Given the description of an element on the screen output the (x, y) to click on. 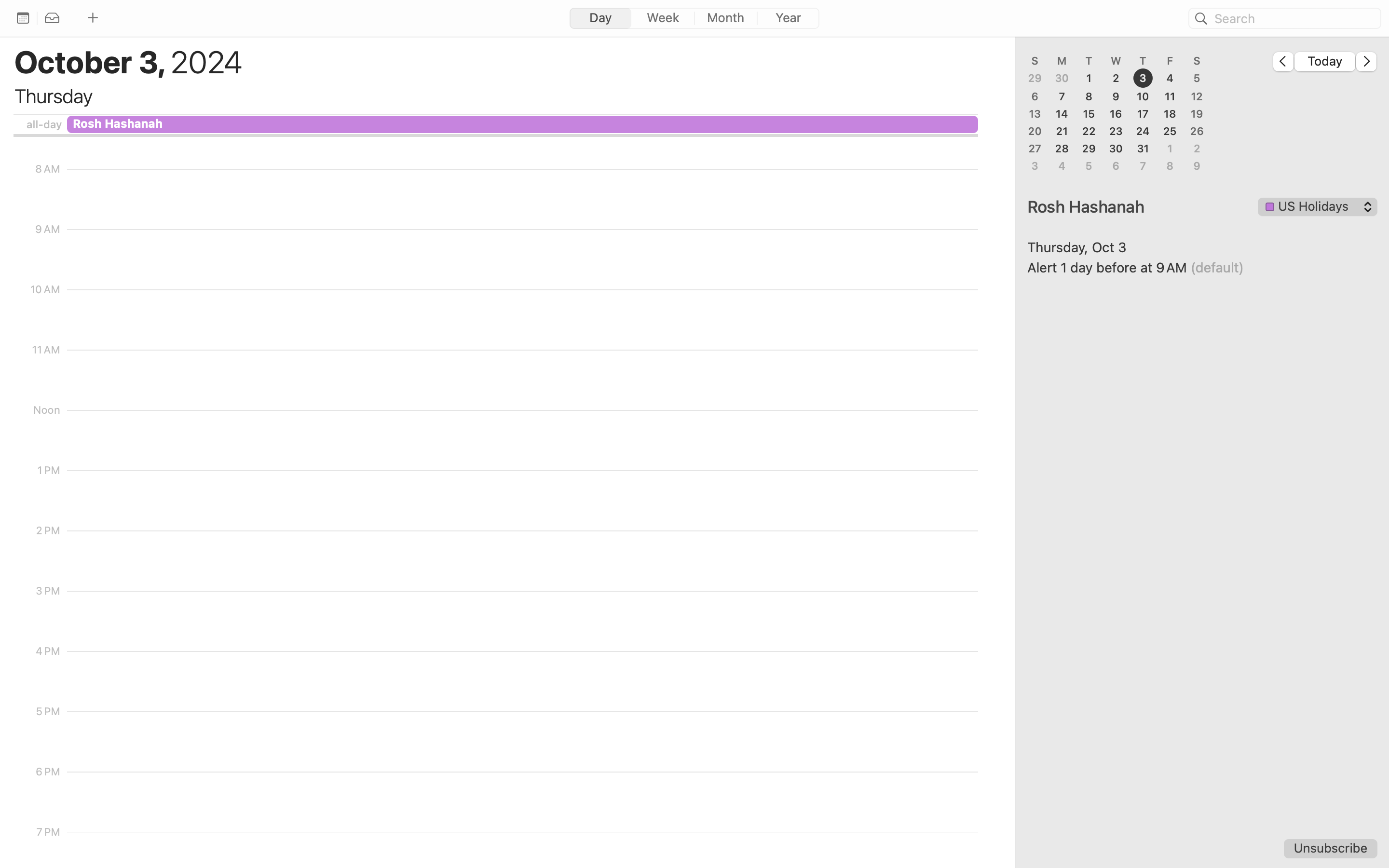
4 Element type: AXStaticText (1169, 78)
19 Element type: AXStaticText (1196, 113)
